Given the description of an element on the screen output the (x, y) to click on. 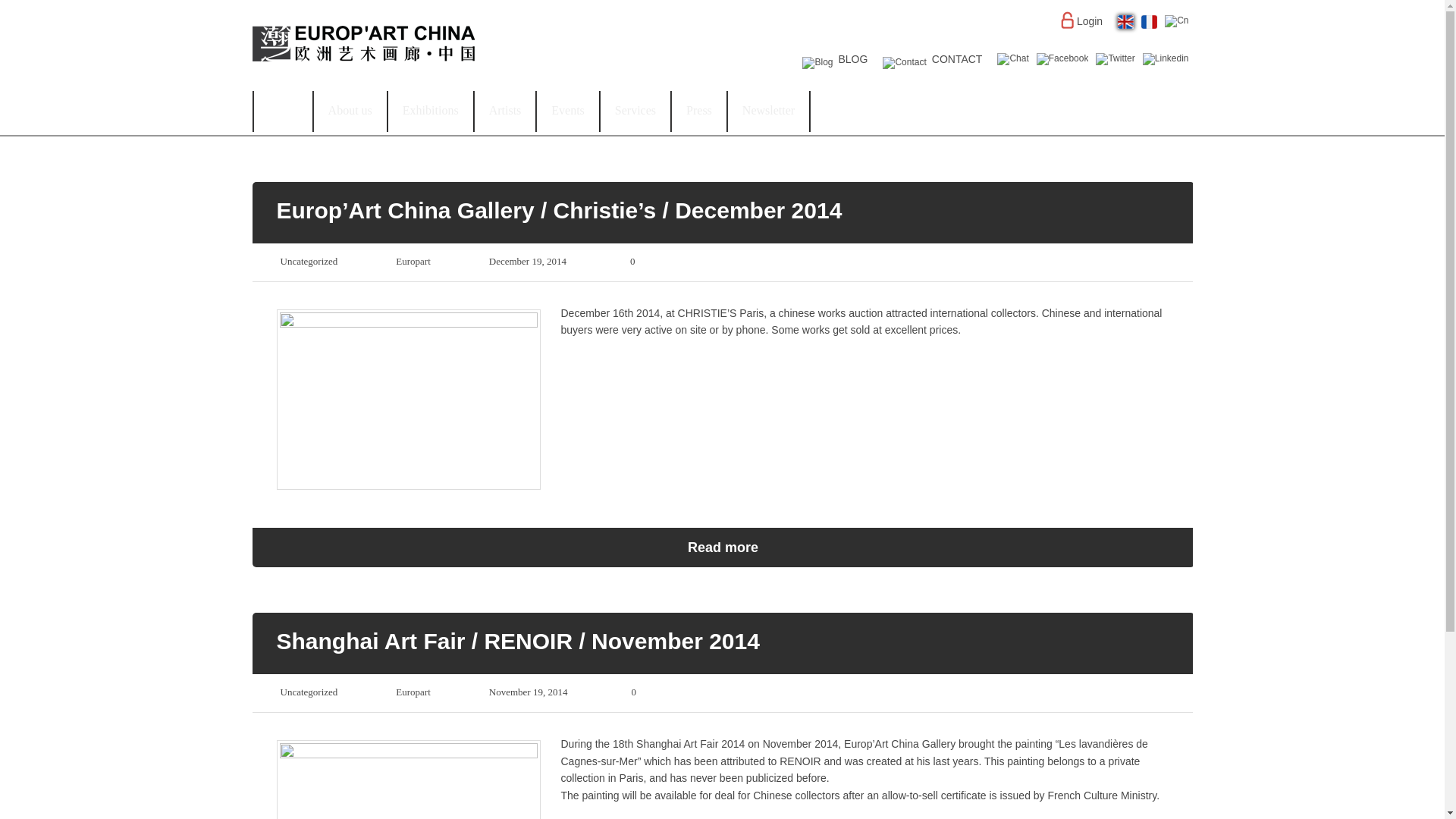
Europart (412, 691)
Exhibitions (430, 110)
Home (282, 110)
Artists (504, 110)
Twitter (1115, 59)
Login (1084, 25)
Linkedin (1165, 59)
WeChat (1012, 59)
Facebook (1062, 59)
